Given the description of an element on the screen output the (x, y) to click on. 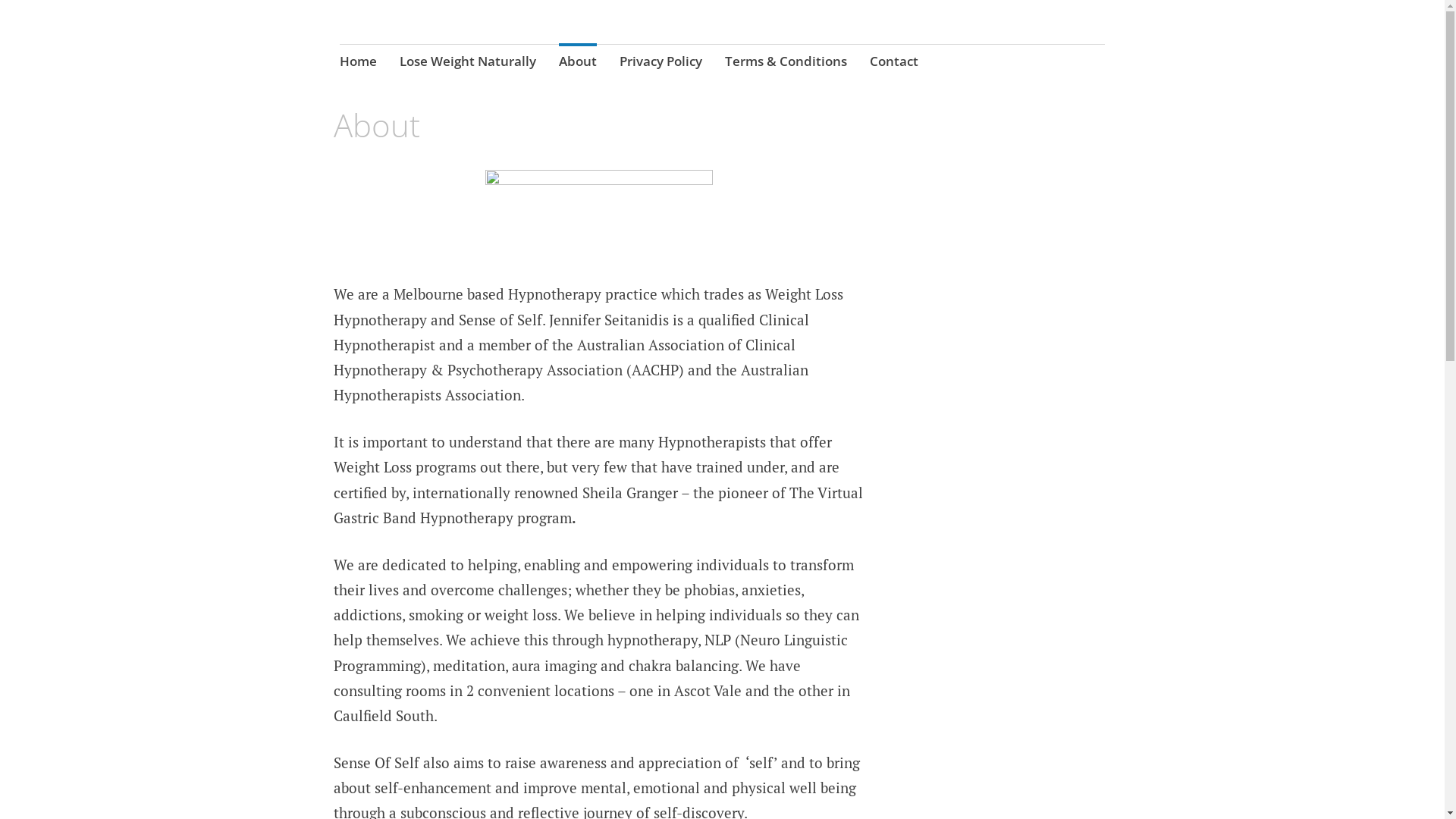
senseofself_logo Element type: hover (598, 223)
Privacy Policy Element type: text (660, 62)
Terms & Conditions Element type: text (785, 62)
Lose Weight Naturally Element type: text (467, 62)
Home Element type: text (357, 62)
Contact Element type: text (893, 62)
About Element type: text (577, 62)
Skip to content Element type: text (339, 45)
Gastric Band Hypnosis Element type: text (476, 57)
